Given the description of an element on the screen output the (x, y) to click on. 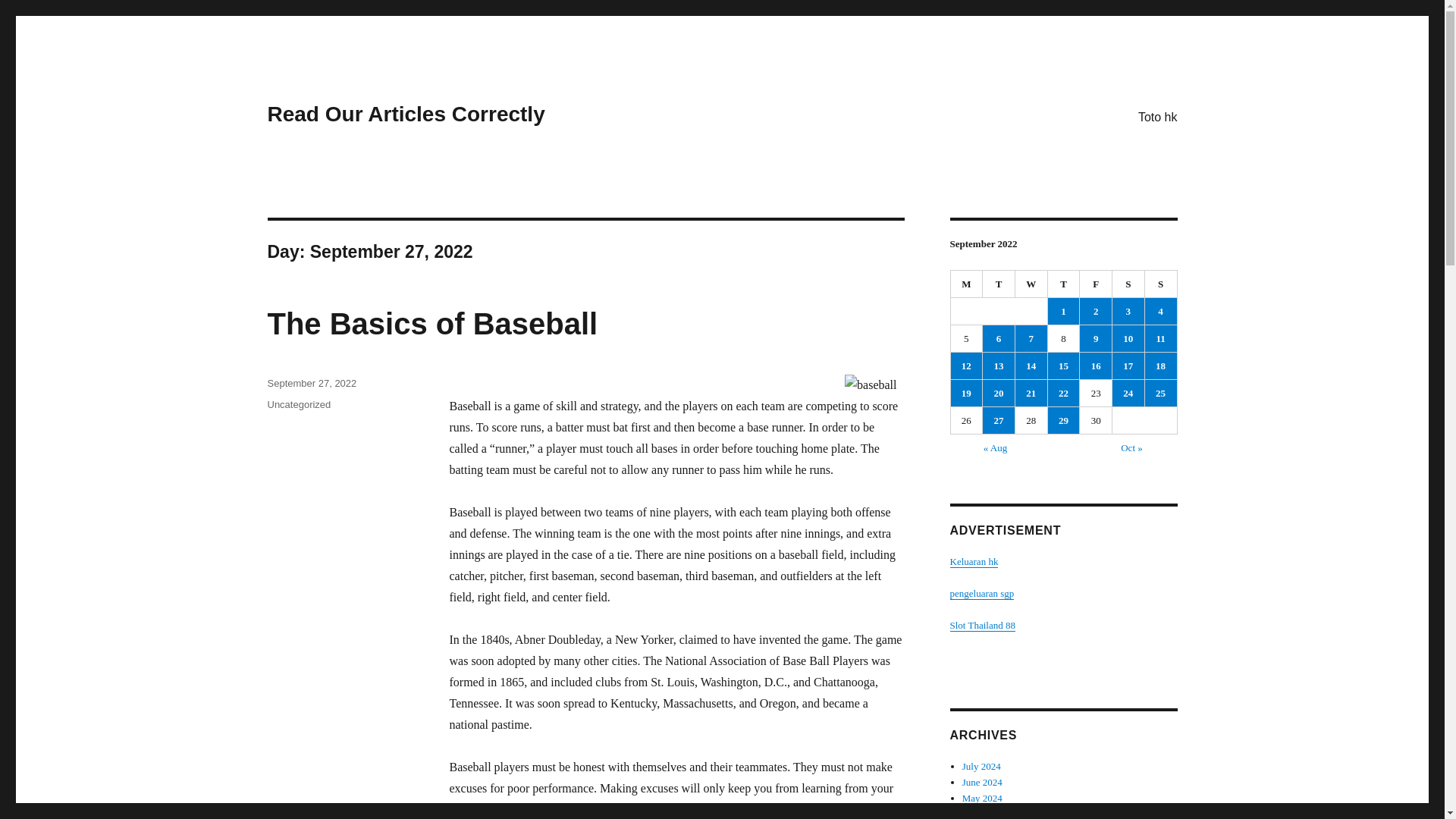
25 (1160, 393)
13 (998, 365)
12 (966, 365)
pengeluaran sgp (981, 593)
4 (1160, 311)
6 (998, 338)
9 (1096, 338)
21 (1030, 393)
16 (1096, 365)
29 (1064, 420)
September 27, 2022 (311, 383)
Read Our Articles Correctly (405, 114)
15 (1064, 365)
Toto hk (1157, 116)
20 (998, 393)
